Given the description of an element on the screen output the (x, y) to click on. 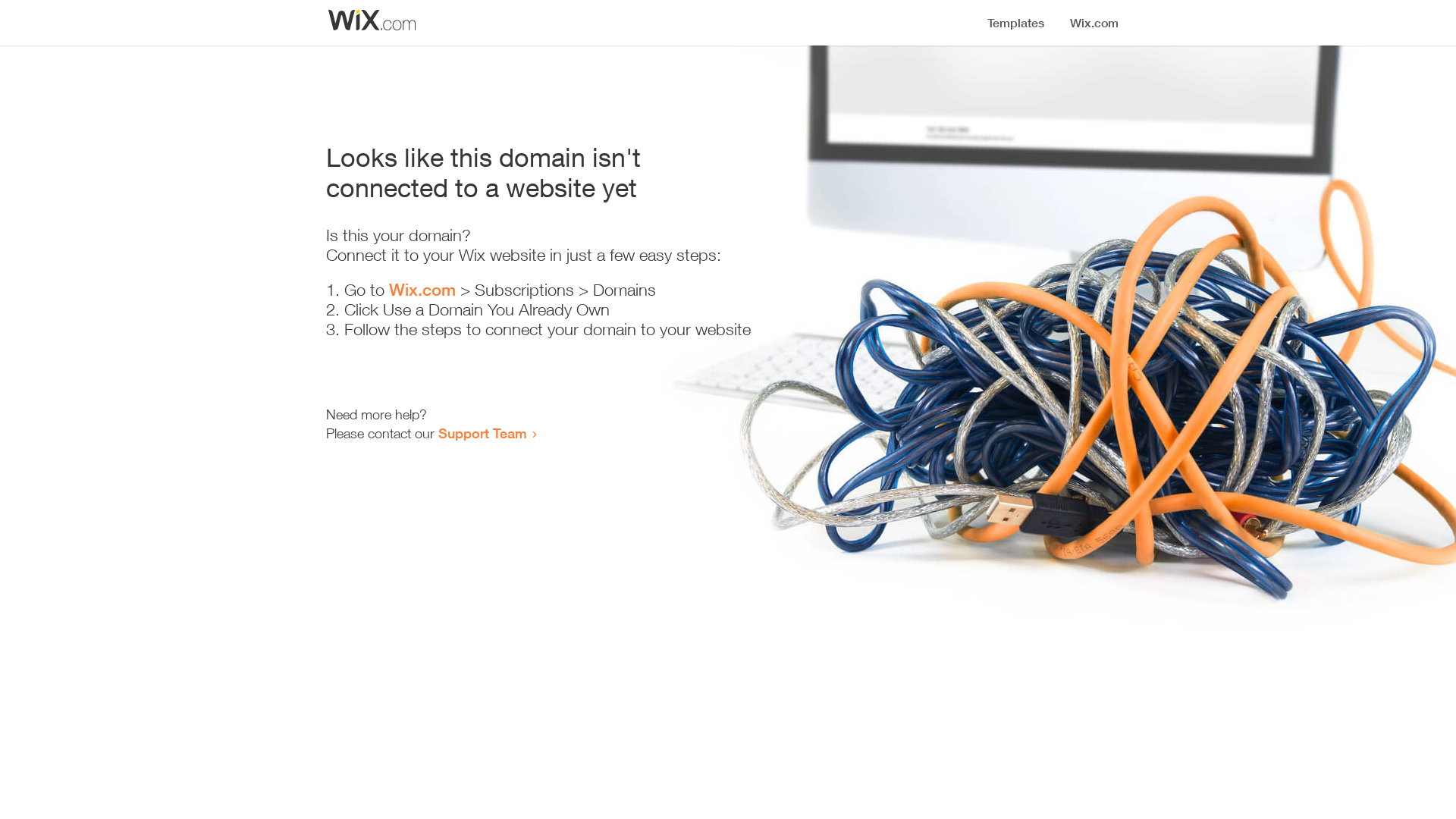
Wix.com Element type: text (422, 289)
Support Team Element type: text (482, 432)
